Given the description of an element on the screen output the (x, y) to click on. 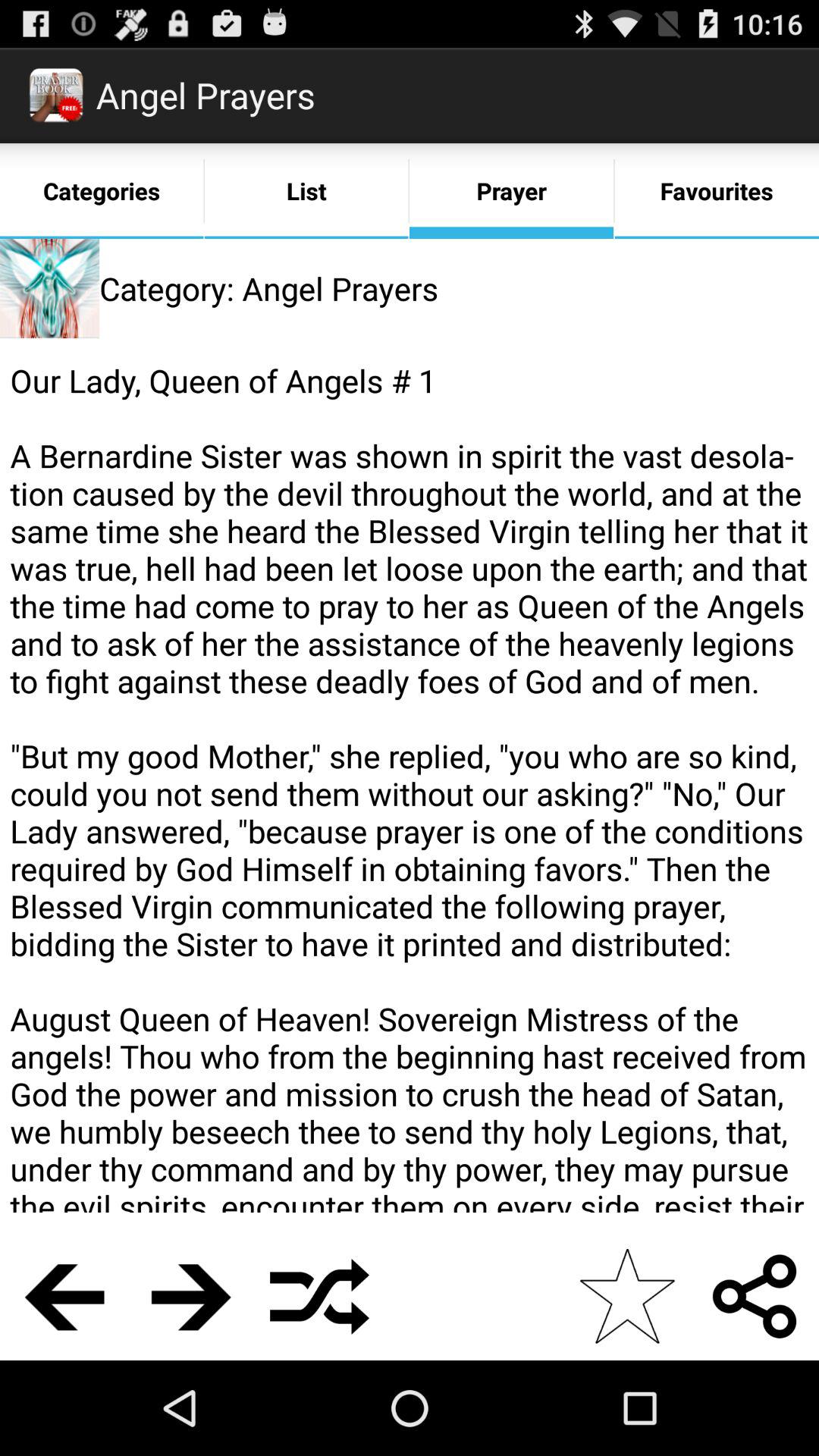
go to next (191, 1296)
